Given the description of an element on the screen output the (x, y) to click on. 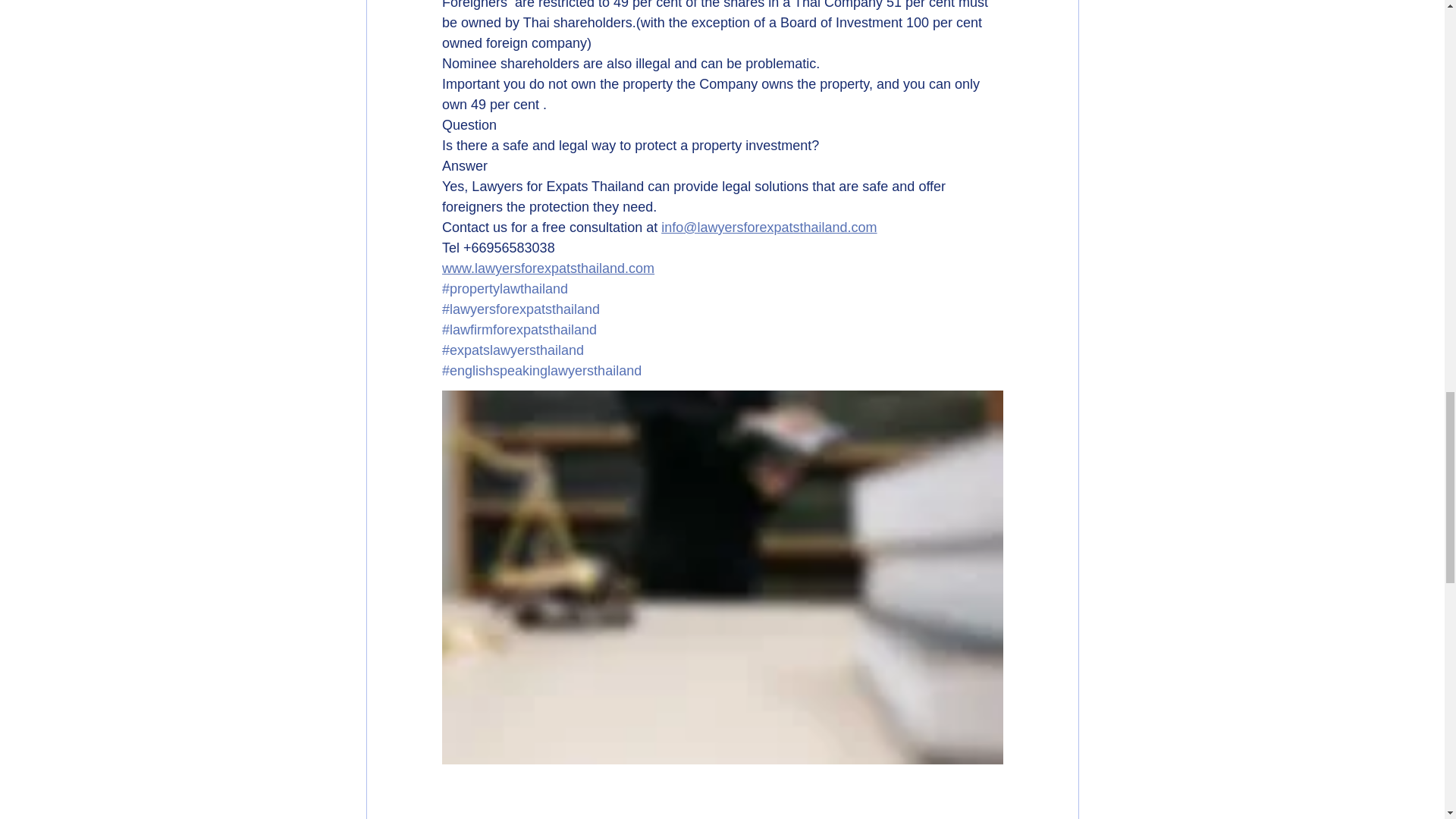
www.lawyersforexpatsthailand.com (547, 268)
